Given the description of an element on the screen output the (x, y) to click on. 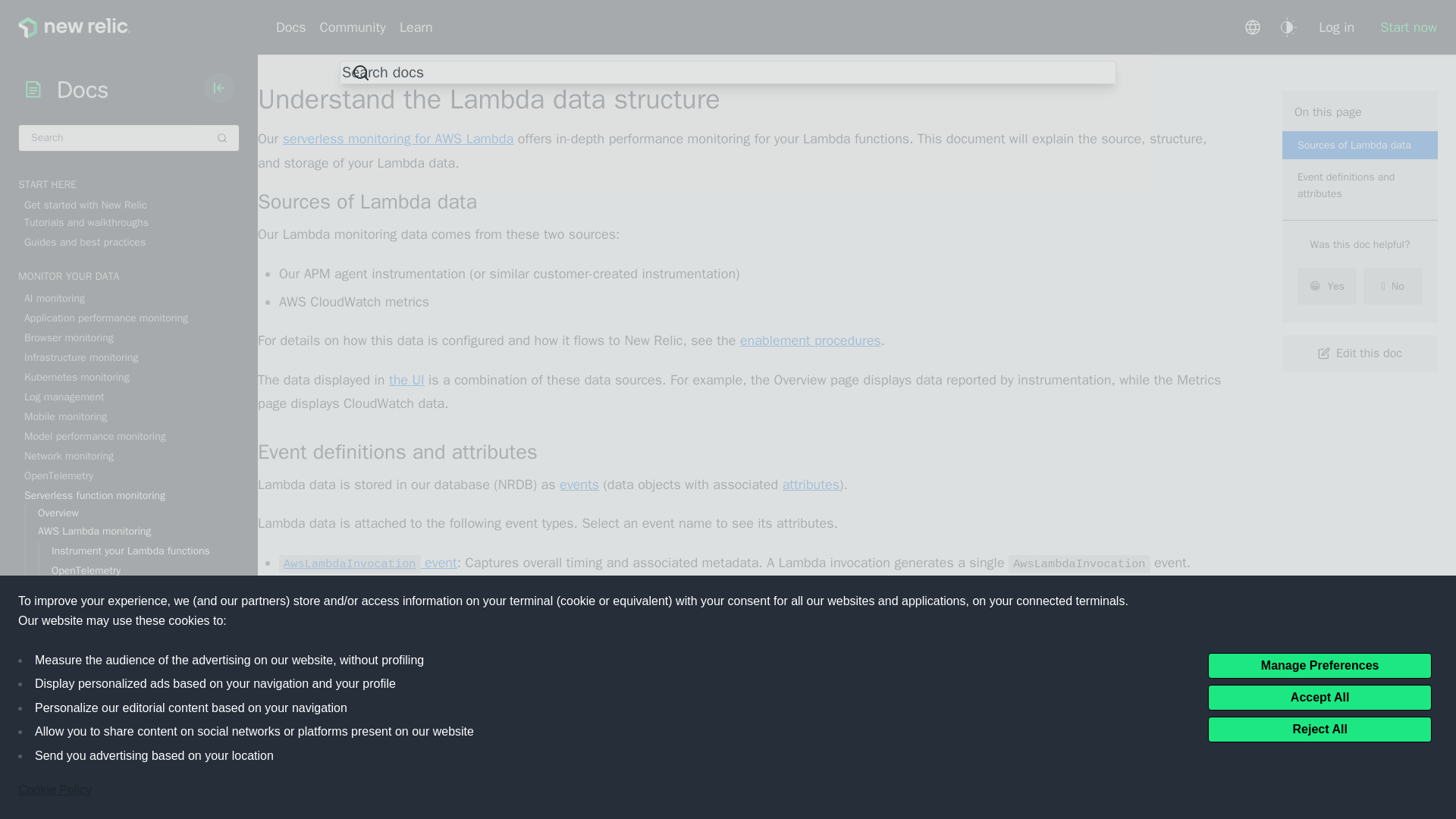
Docs (294, 27)
Accept All (1319, 696)
Learn (416, 27)
Log in (1336, 26)
Start now (1402, 26)
Cookie Policy (54, 789)
Community (353, 27)
Get started with New Relic (131, 204)
Reject All (1319, 728)
Manage Preferences (1319, 664)
